Given the description of an element on the screen output the (x, y) to click on. 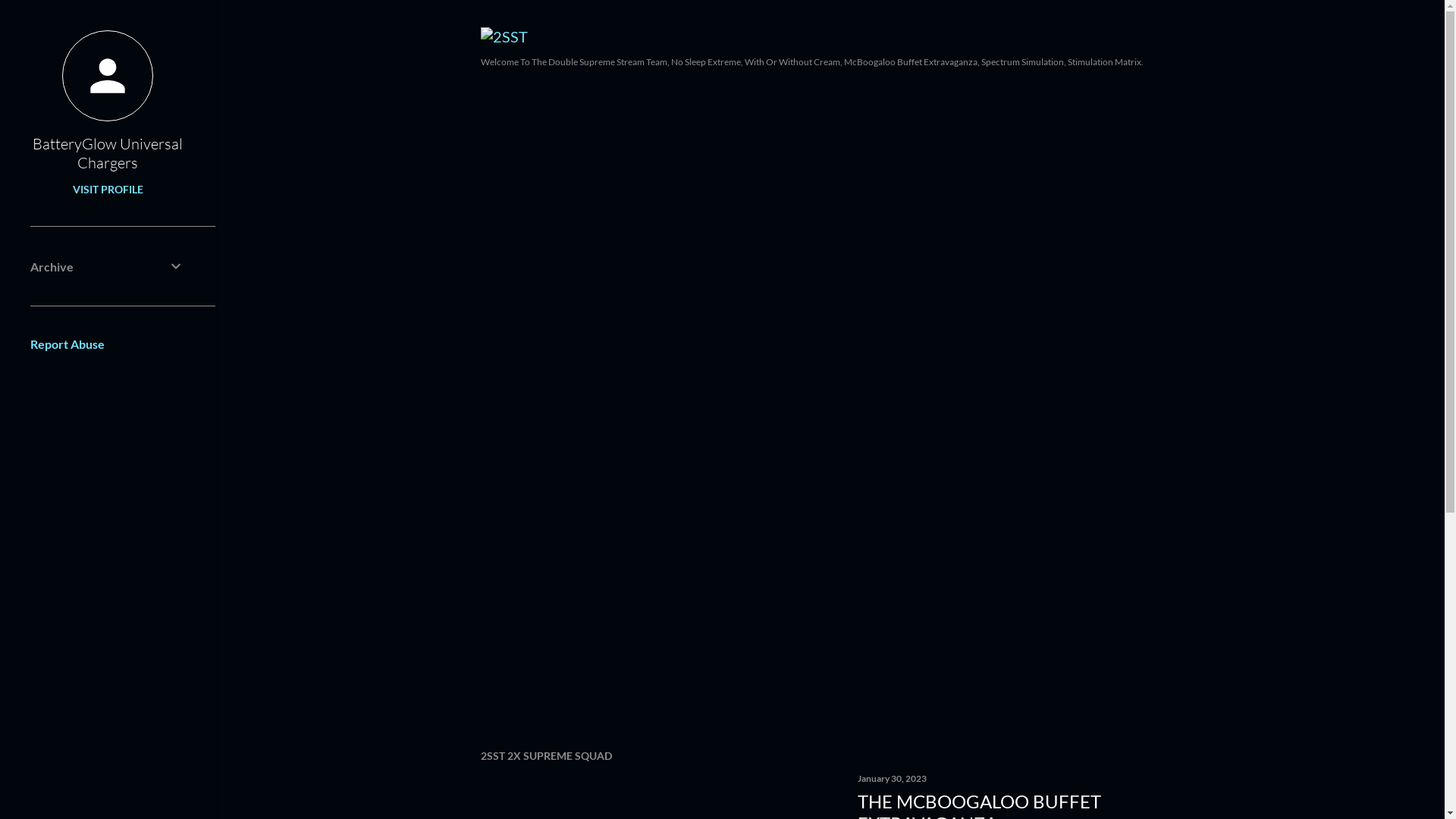
January 30, 2023 Element type: text (890, 778)
Report Abuse Element type: text (67, 343)
VISIT PROFILE Element type: text (107, 188)
BatteryGlow Universal Chargers Element type: text (107, 153)
